Given the description of an element on the screen output the (x, y) to click on. 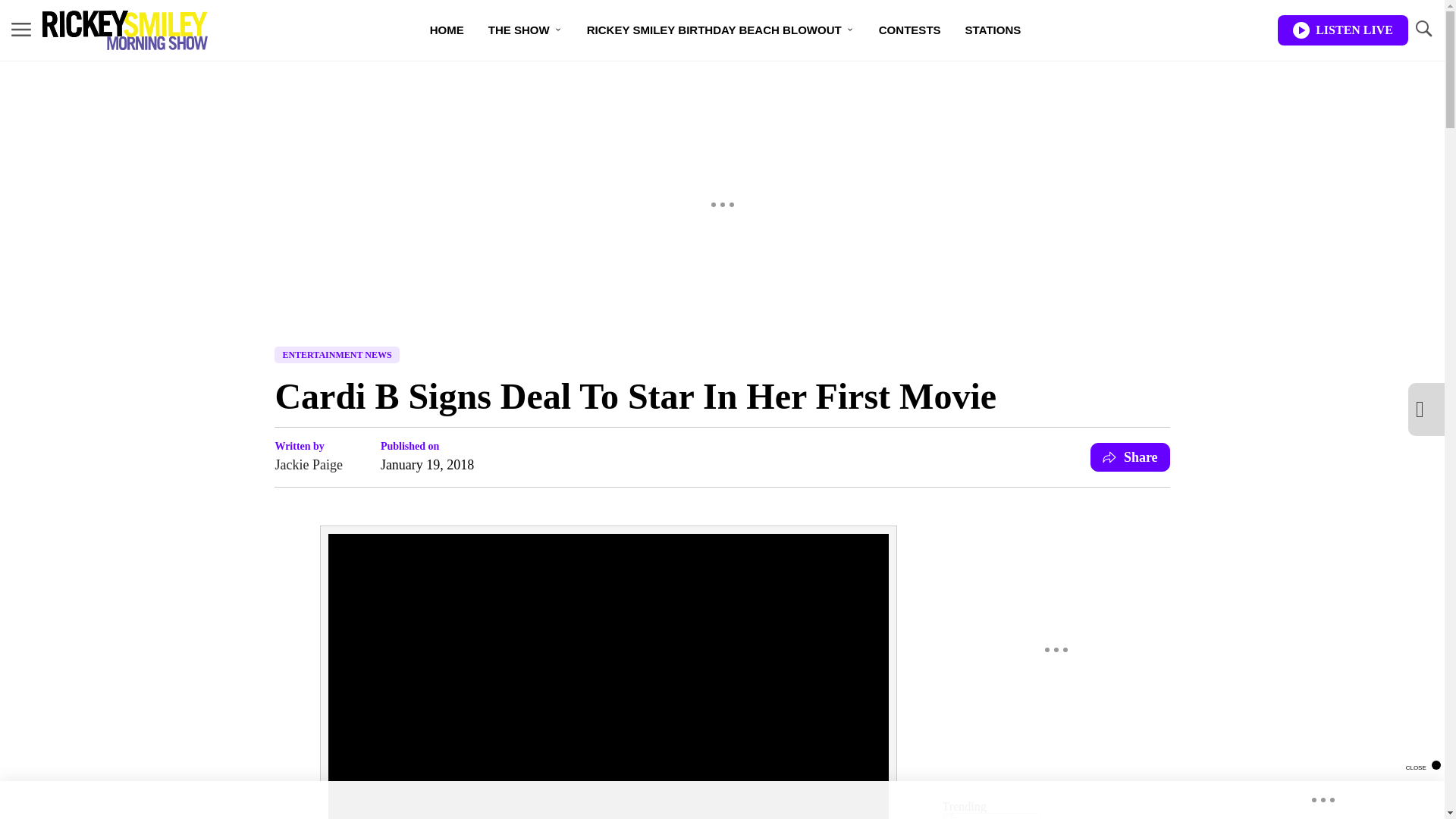
LISTEN LIVE (1342, 30)
HOME (446, 30)
MENU (20, 29)
TOGGLE SEARCH (1422, 30)
Jackie Paige (308, 464)
Stations (993, 30)
RICKEY SMILEY BIRTHDAY BEACH BLOWOUT (720, 30)
THE SHOW (525, 30)
CONTESTS (909, 30)
ENTERTAINMENT NEWS (336, 354)
